Given the description of an element on the screen output the (x, y) to click on. 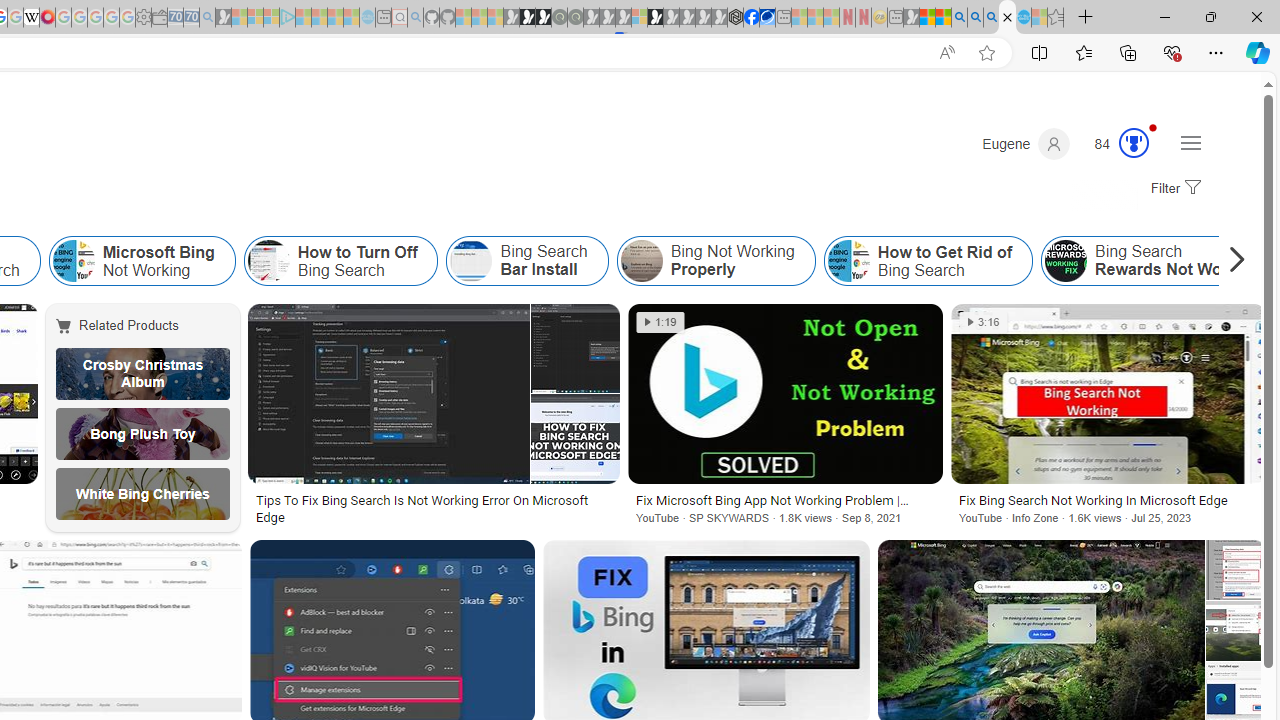
Crosby Christmas Album (143, 373)
White Bing Cherries (143, 493)
Microsoft Bing Not Working (141, 260)
Scroll right (1231, 260)
Bing Search Not Working - Search Images (1007, 17)
